Given the description of an element on the screen output the (x, y) to click on. 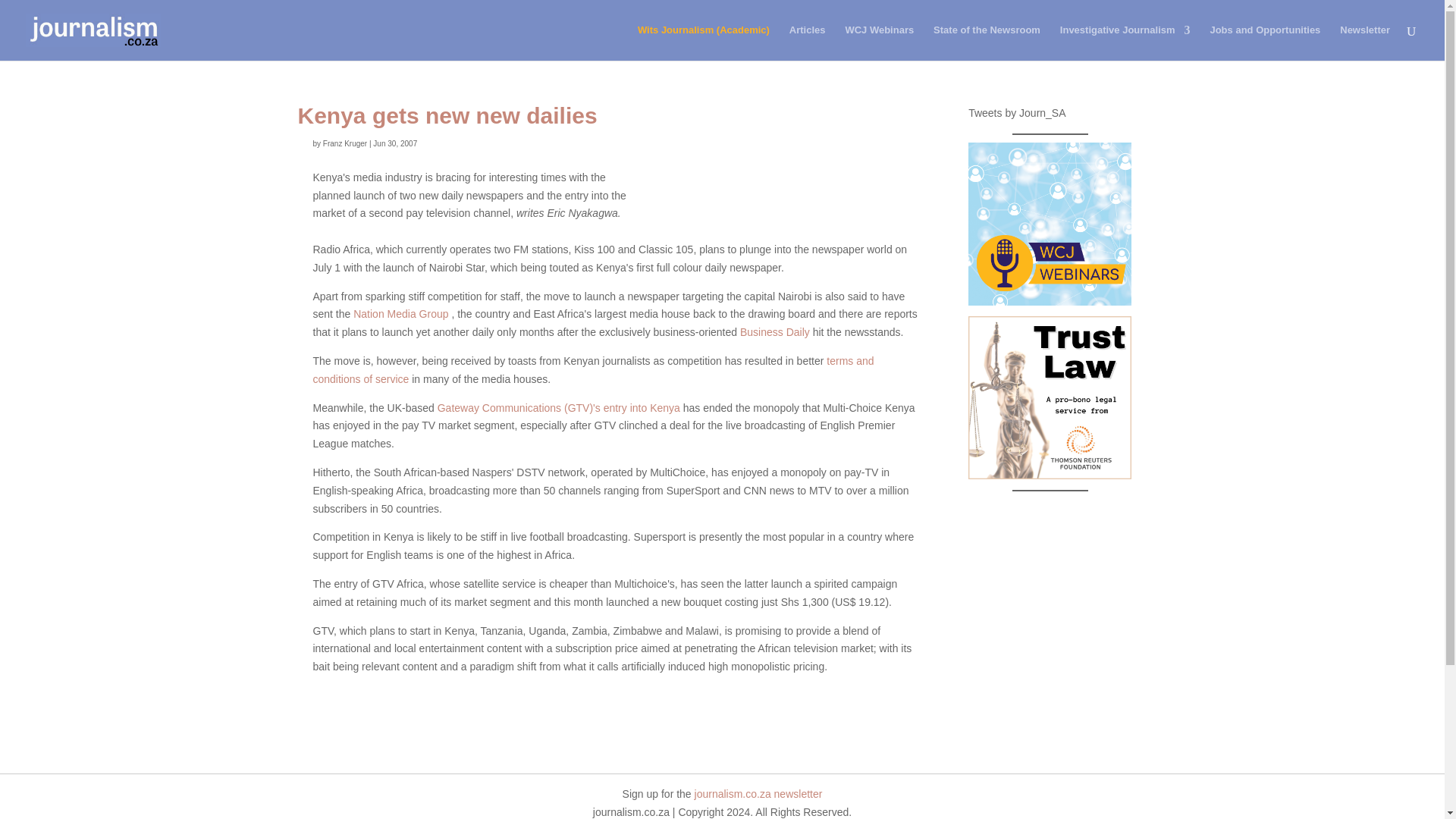
journalism.co.za newsletter (758, 793)
terms and conditions of service (593, 369)
Jobs and Opportunities (1264, 42)
Nation Media Group (400, 313)
Newsletter (1364, 42)
WCJ Webinars (879, 42)
Franz Kruger (344, 143)
Business Daily (774, 331)
State of the Newsroom (987, 42)
Articles (807, 42)
